Given the description of an element on the screen output the (x, y) to click on. 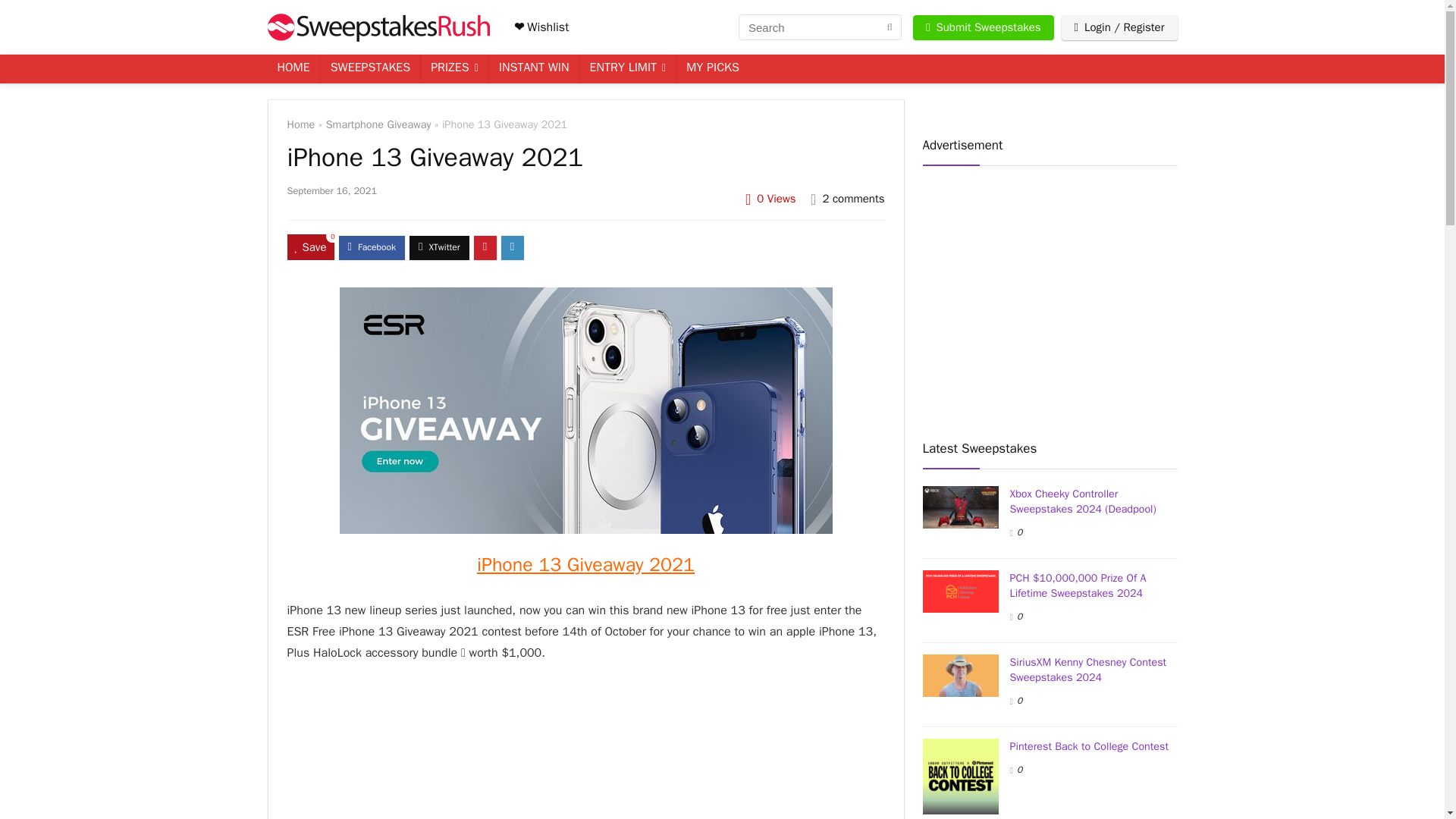
MY PICKS (713, 68)
SWEEPSTAKES (370, 68)
Home (300, 124)
PRIZES (453, 68)
Submit Sweepstakes (983, 27)
Advertisement (1027, 296)
Smartphone Giveaway (378, 124)
HOME (292, 68)
ENTRY LIMIT (627, 68)
2 comments (852, 198)
Advertisement (584, 753)
INSTANT WIN (534, 68)
